Given the description of an element on the screen output the (x, y) to click on. 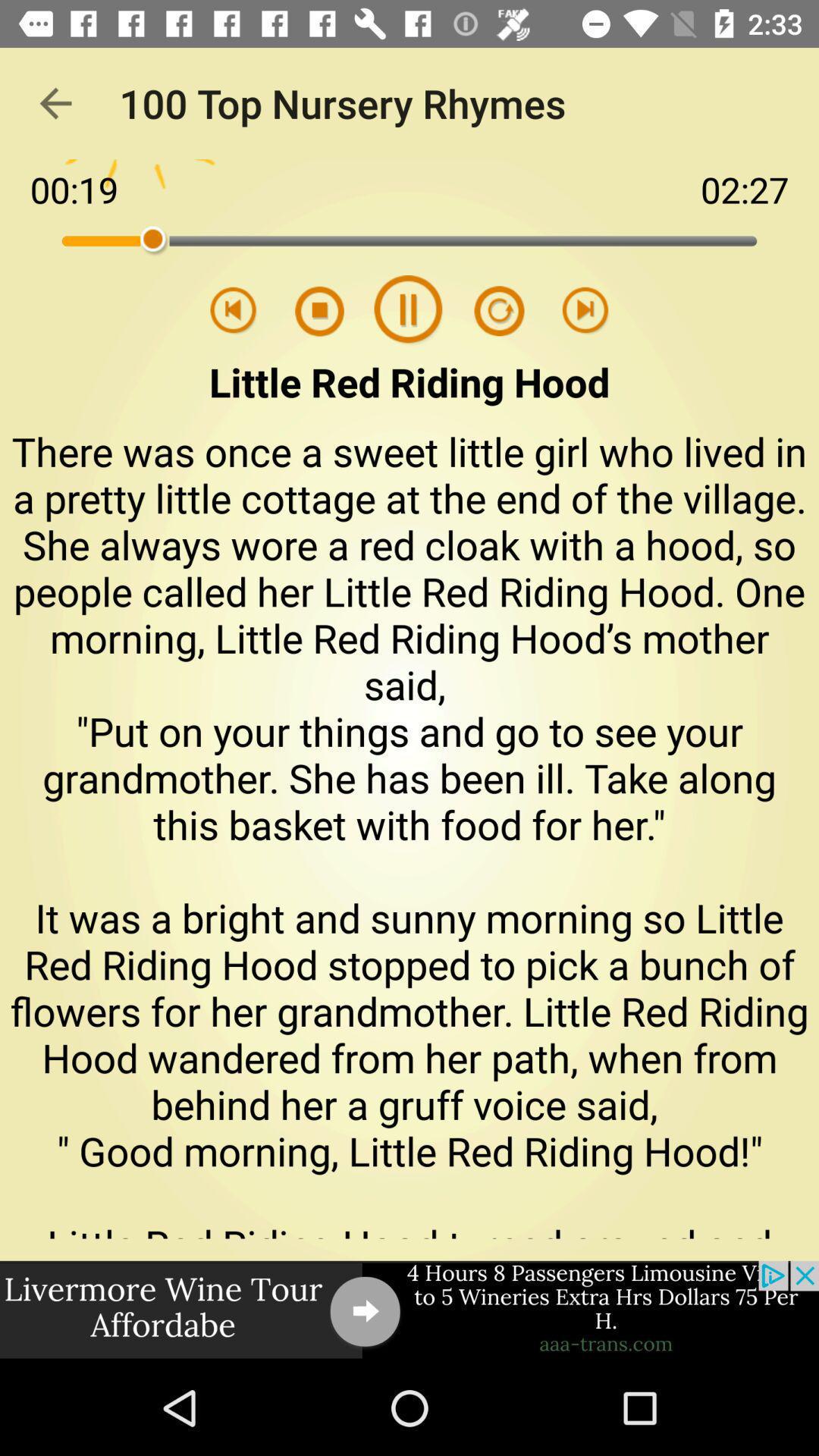
hood papaattern (489, 310)
